Given the description of an element on the screen output the (x, y) to click on. 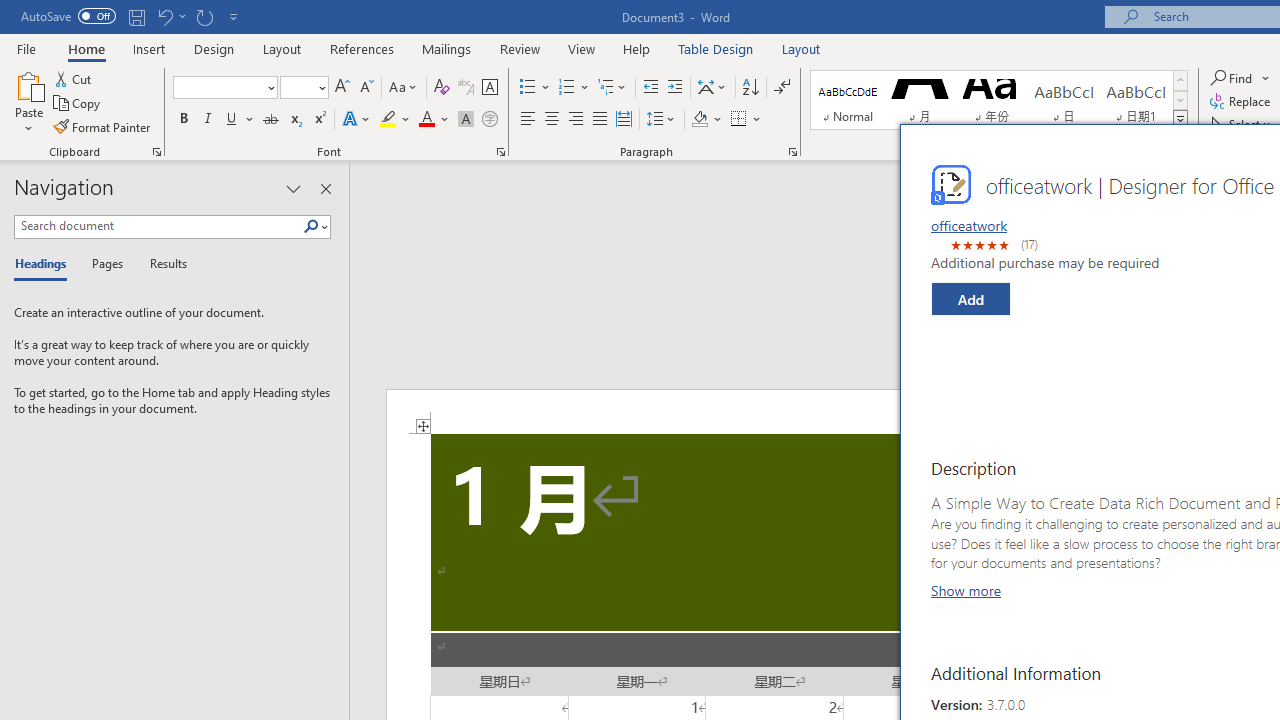
Repeat Grow Font (204, 15)
